Given the description of an element on the screen output the (x, y) to click on. 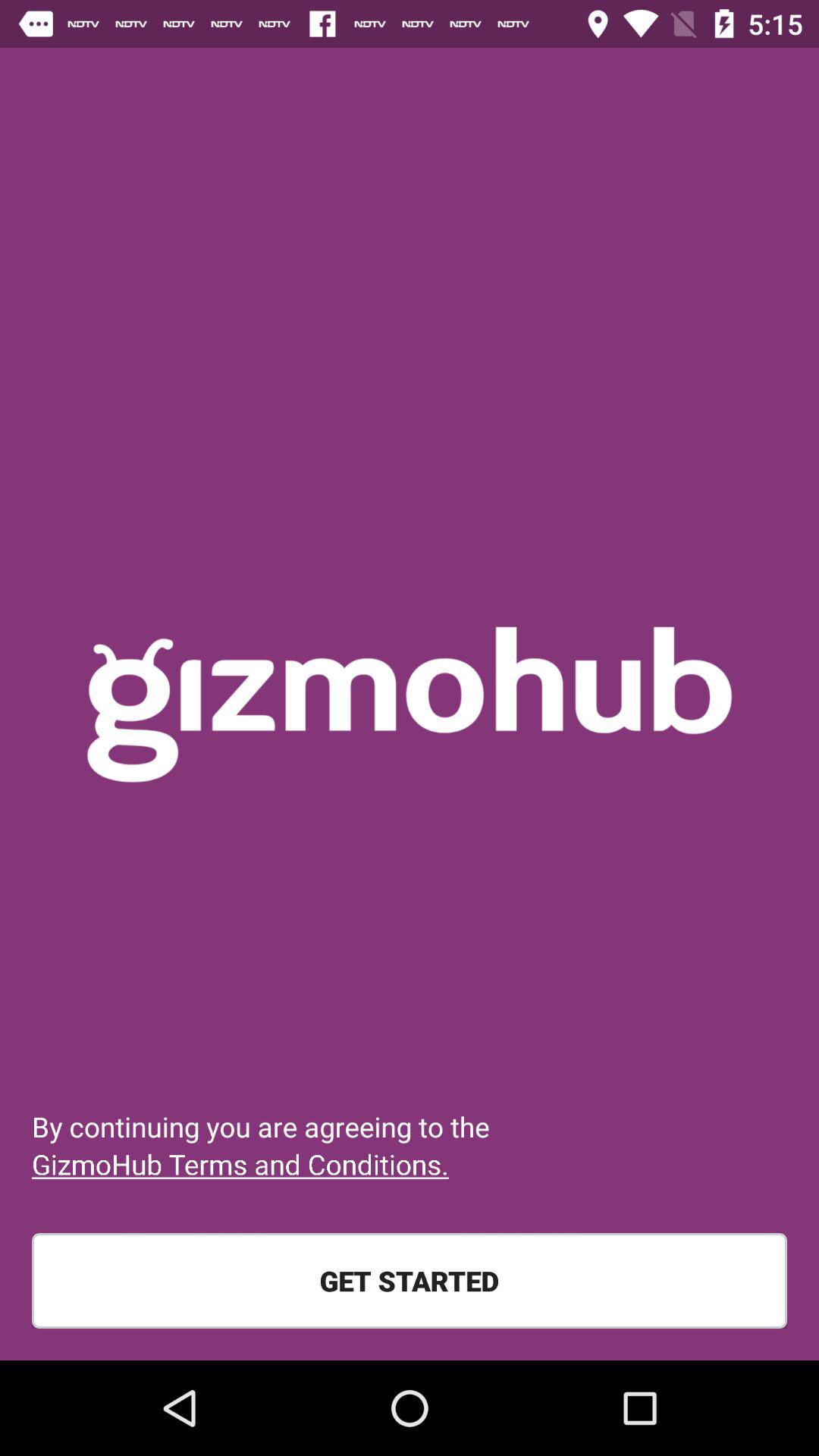
open the get started (409, 1280)
